Given the description of an element on the screen output the (x, y) to click on. 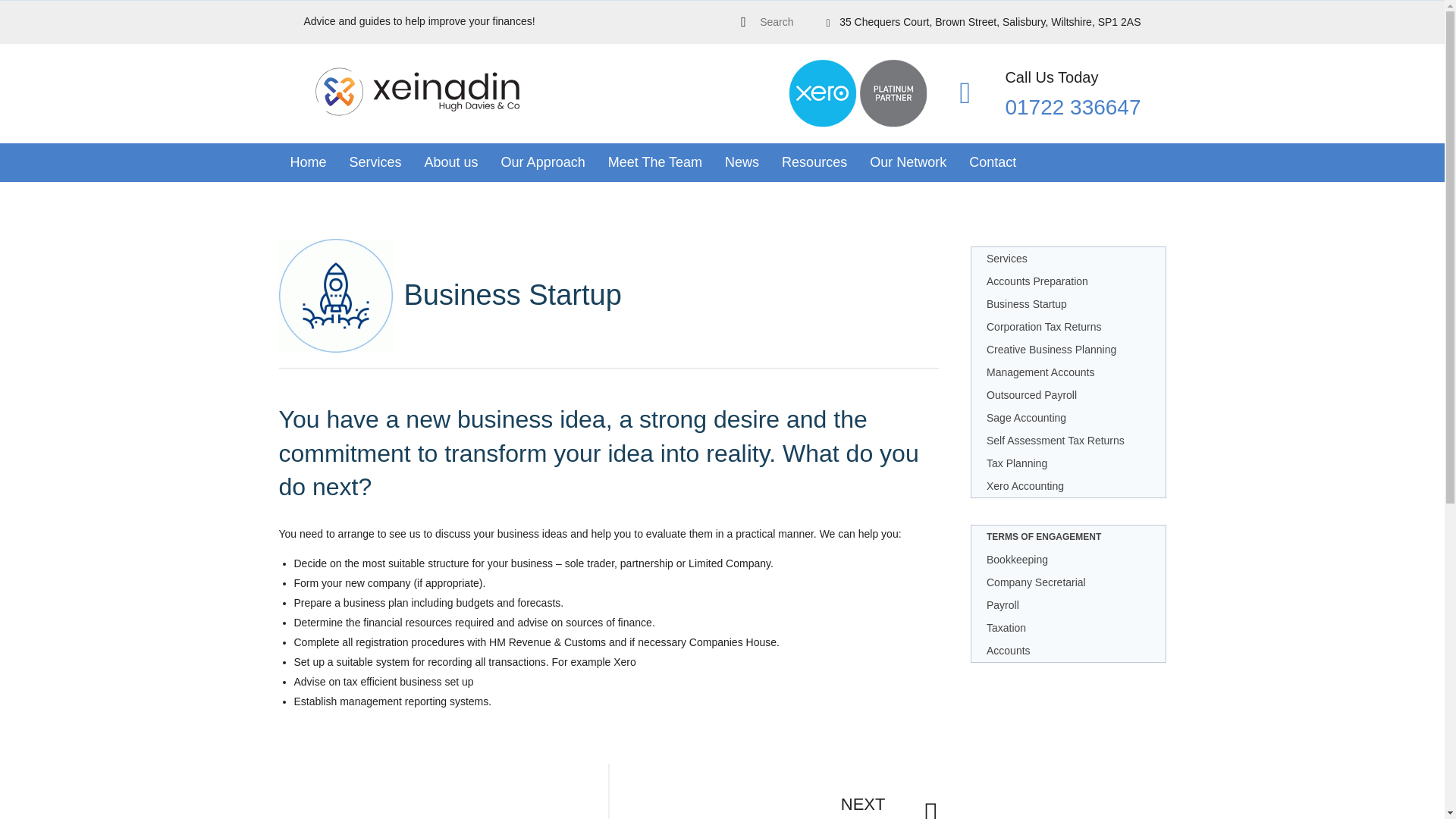
Creative Business Planning (1068, 349)
Taxation (1068, 627)
Creative Business Planning (772, 780)
Meet The Team (654, 162)
Tax Planning (1068, 463)
Payroll (1068, 604)
Company Secretarial (1068, 581)
Corporation Tax Returns (1068, 326)
Bookkeeping (1068, 558)
About us (451, 162)
